Given the description of an element on the screen output the (x, y) to click on. 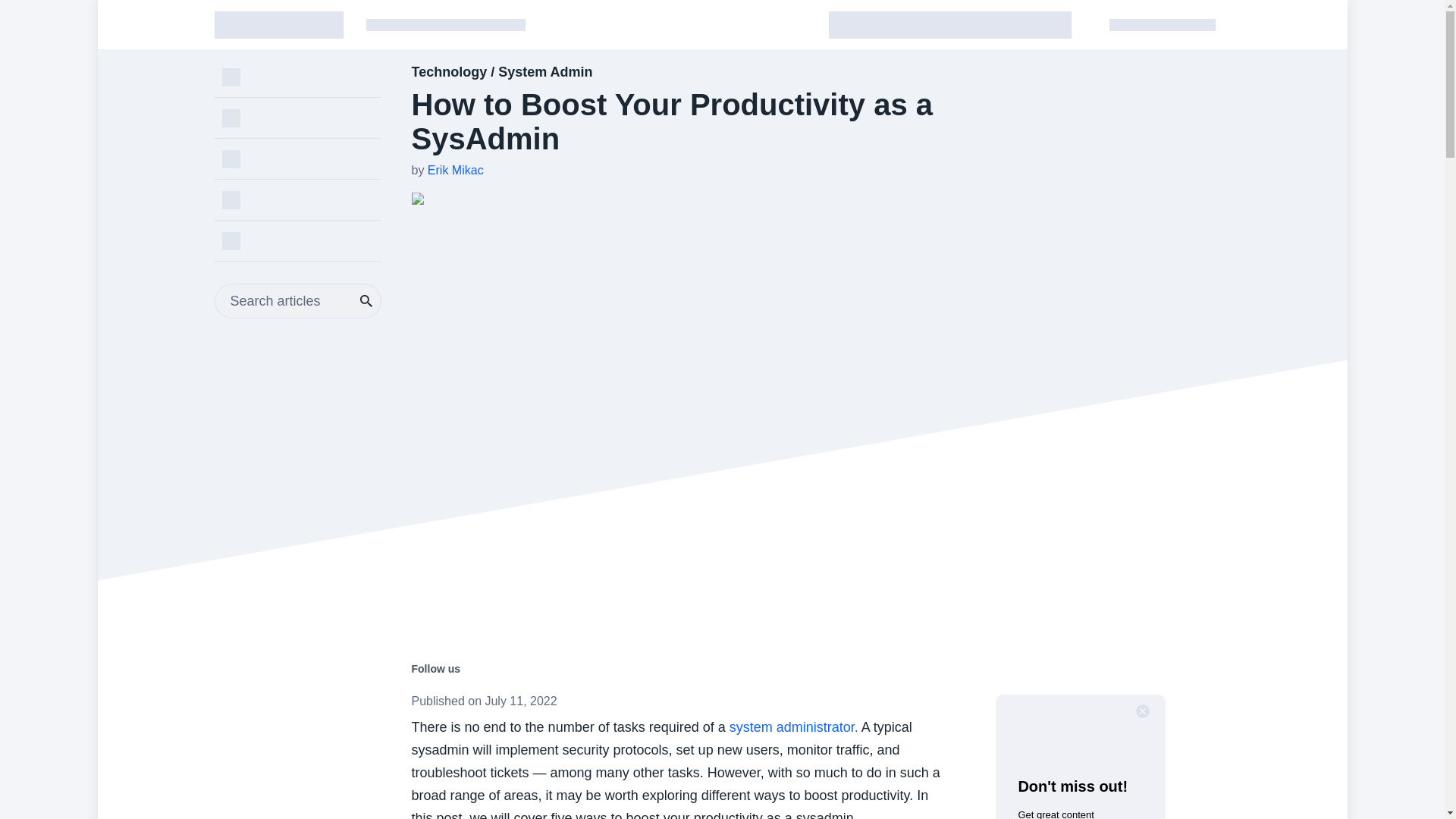
 system administrator. (792, 726)
How to Boost Your Productivity as a SysAdmin picture: A (568, 199)
Erik Mikac (455, 169)
